Given the description of an element on the screen output the (x, y) to click on. 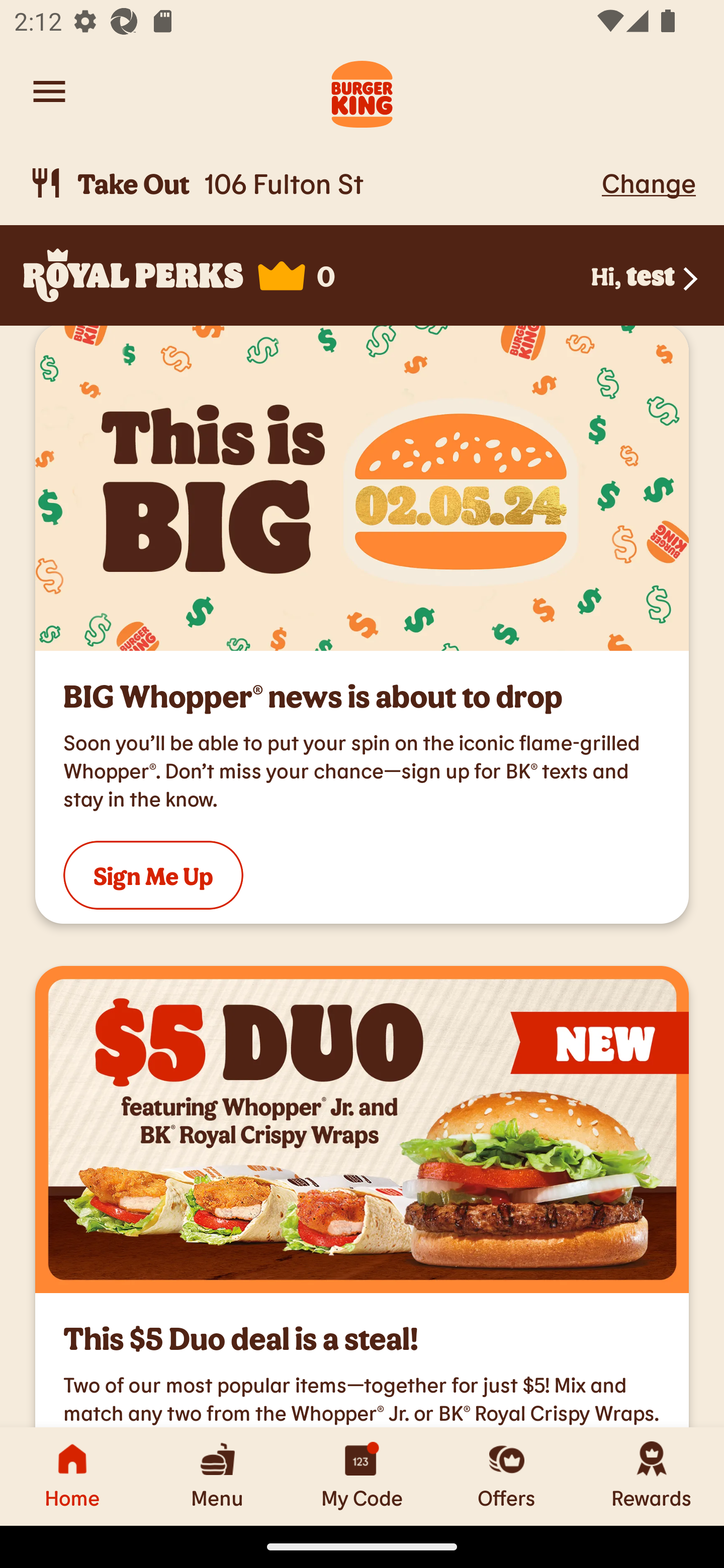
Burger King Logo. Navigate to Home (362, 91)
Navigate to account menu  (49, 91)
Take Out, 106 Fulton St  Take Out 106 Fulton St (311, 183)
Change (648, 182)
MDW Teaser Auth App (361, 488)
Sign Me Up (153, 874)
$5 Duo ft. Wraps  (361, 1129)
Home (72, 1475)
Menu (216, 1475)
My Code (361, 1475)
Offers (506, 1475)
Rewards (651, 1475)
